Given the description of an element on the screen output the (x, y) to click on. 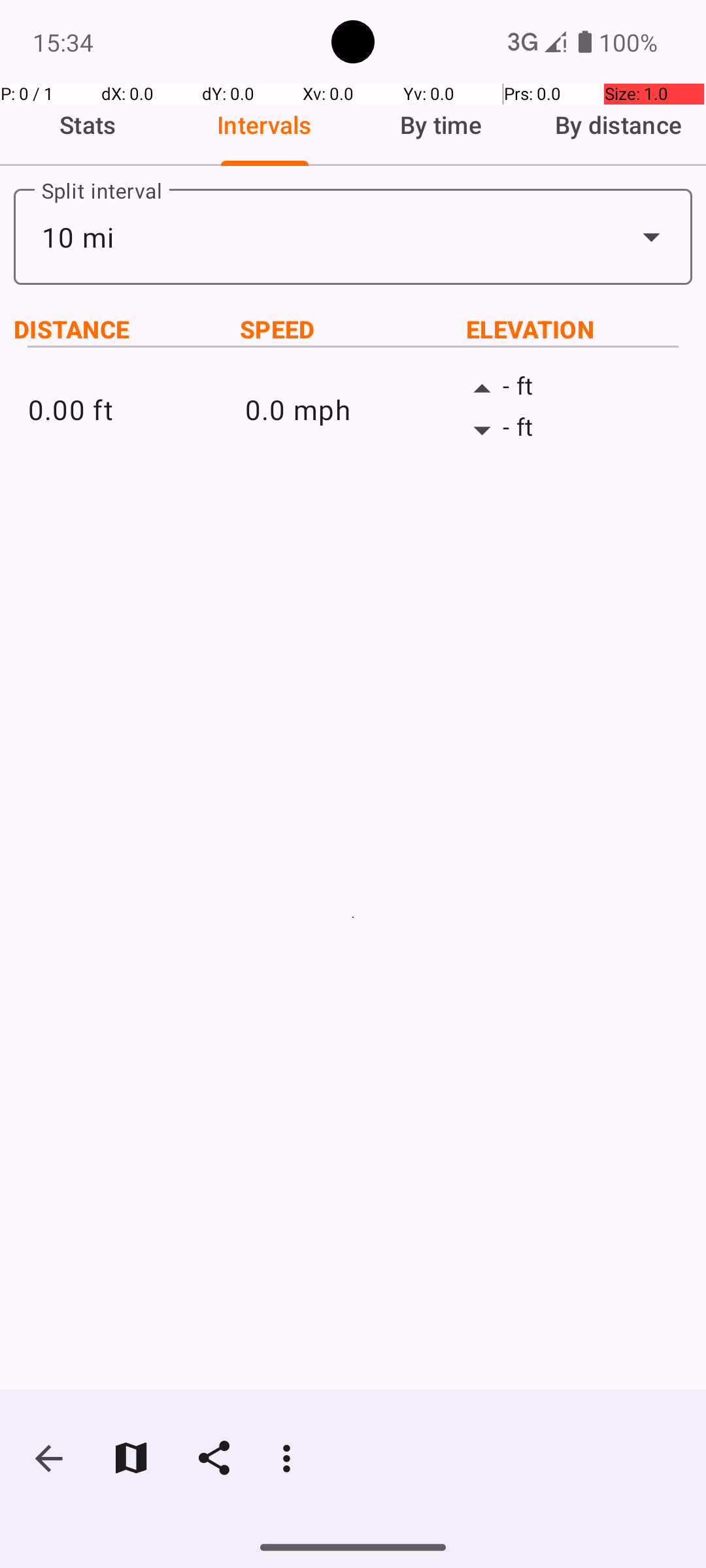
10 mi Element type: android.widget.Spinner (352, 236)
DISTANCE Element type: android.widget.TextView (126, 328)
SPEED Element type: android.widget.TextView (352, 328)
ELEVATION Element type: android.widget.TextView (579, 328)
0.00 ft Element type: android.widget.TextView (135, 408)
0.0 mph Element type: android.widget.TextView (352, 408)
- ft Element type: android.widget.TextView (569, 388)
